Given the description of an element on the screen output the (x, y) to click on. 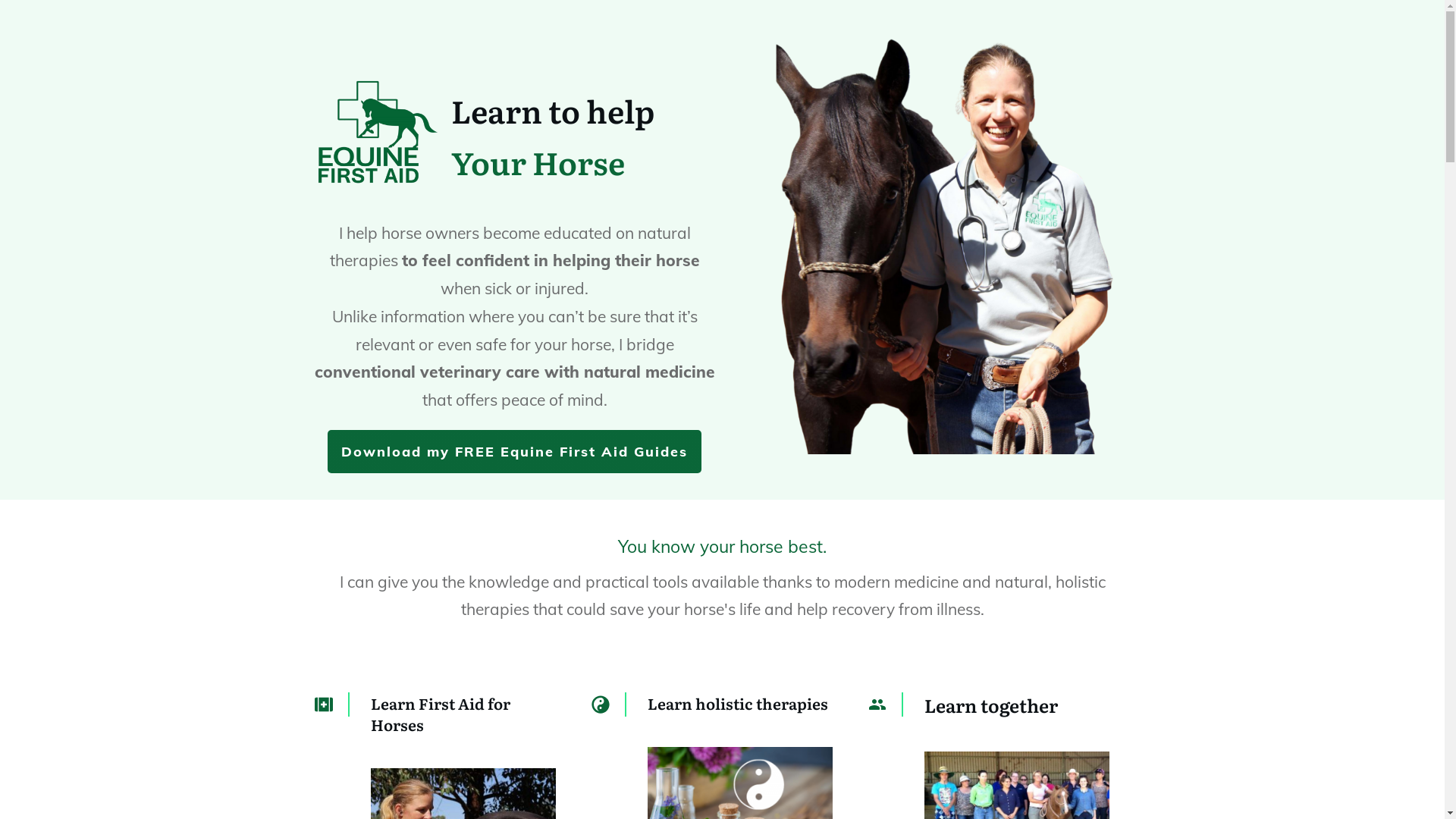
EFA_logo_transparent(1) Element type: hover (375, 132)
Maike_Buck_transparent_bg Element type: hover (934, 244)
Download my FREE Equine First Aid Guides Element type: text (514, 451)
